Given the description of an element on the screen output the (x, y) to click on. 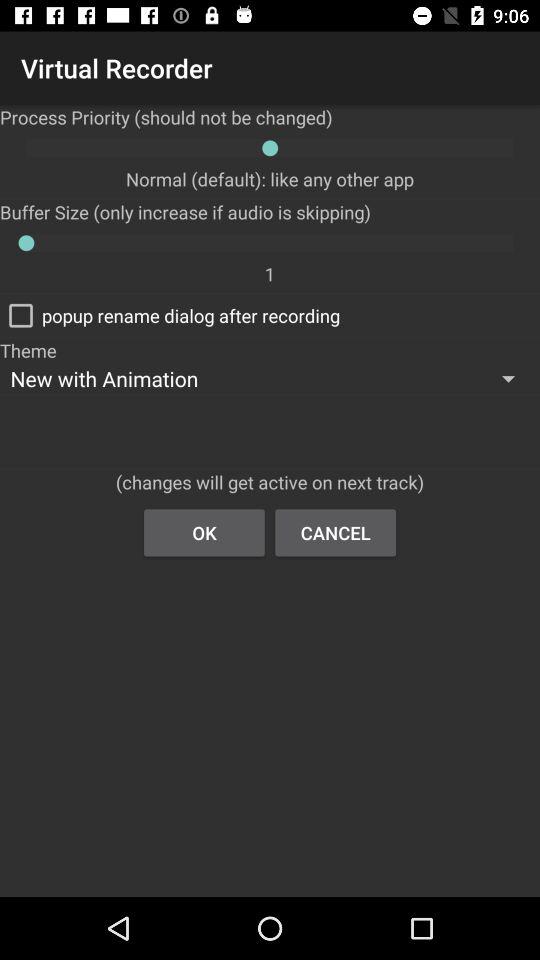
click the cancel button (335, 532)
